Given the description of an element on the screen output the (x, y) to click on. 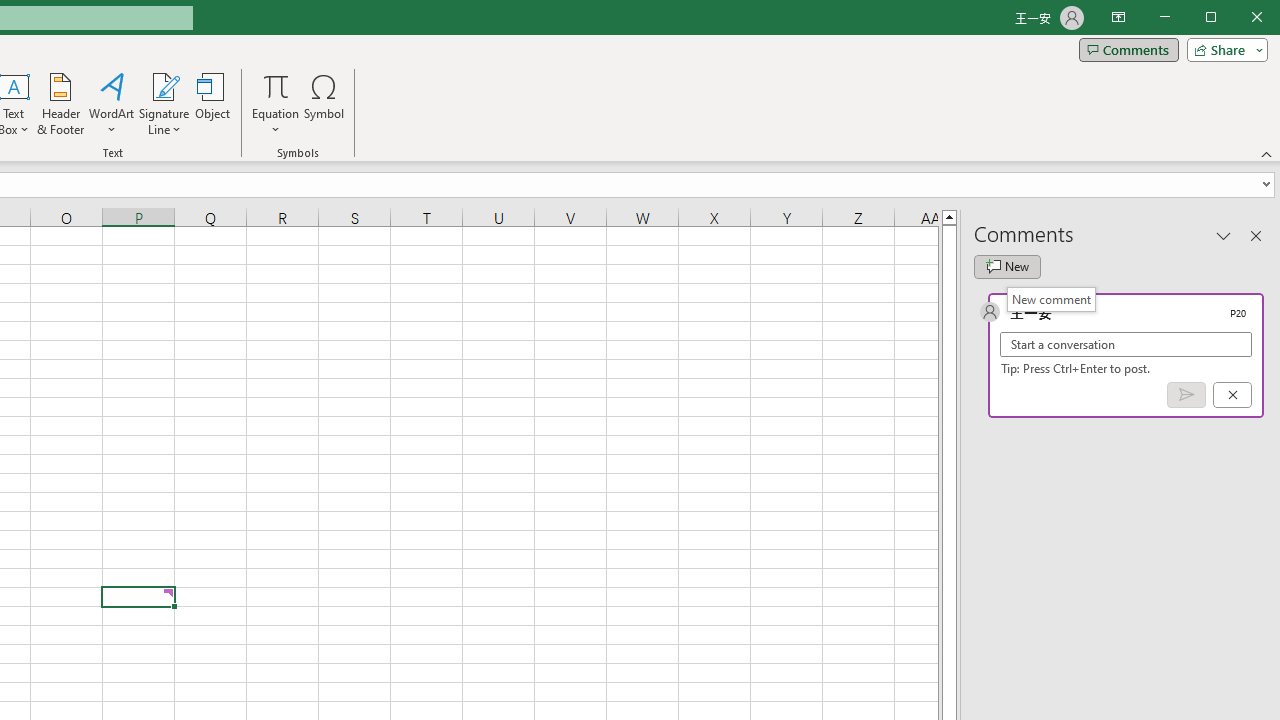
Comments (1128, 49)
Header & Footer... (60, 104)
Close pane (1256, 235)
Line up (948, 216)
New comment (1007, 266)
Signature Line (164, 104)
Ribbon Display Options (1118, 17)
Signature Line (164, 86)
Post comment (Ctrl + Enter) (1186, 395)
WordArt (111, 104)
New comment (1051, 299)
Share (1223, 49)
Equation (275, 104)
Symbol... (324, 104)
